Given the description of an element on the screen output the (x, y) to click on. 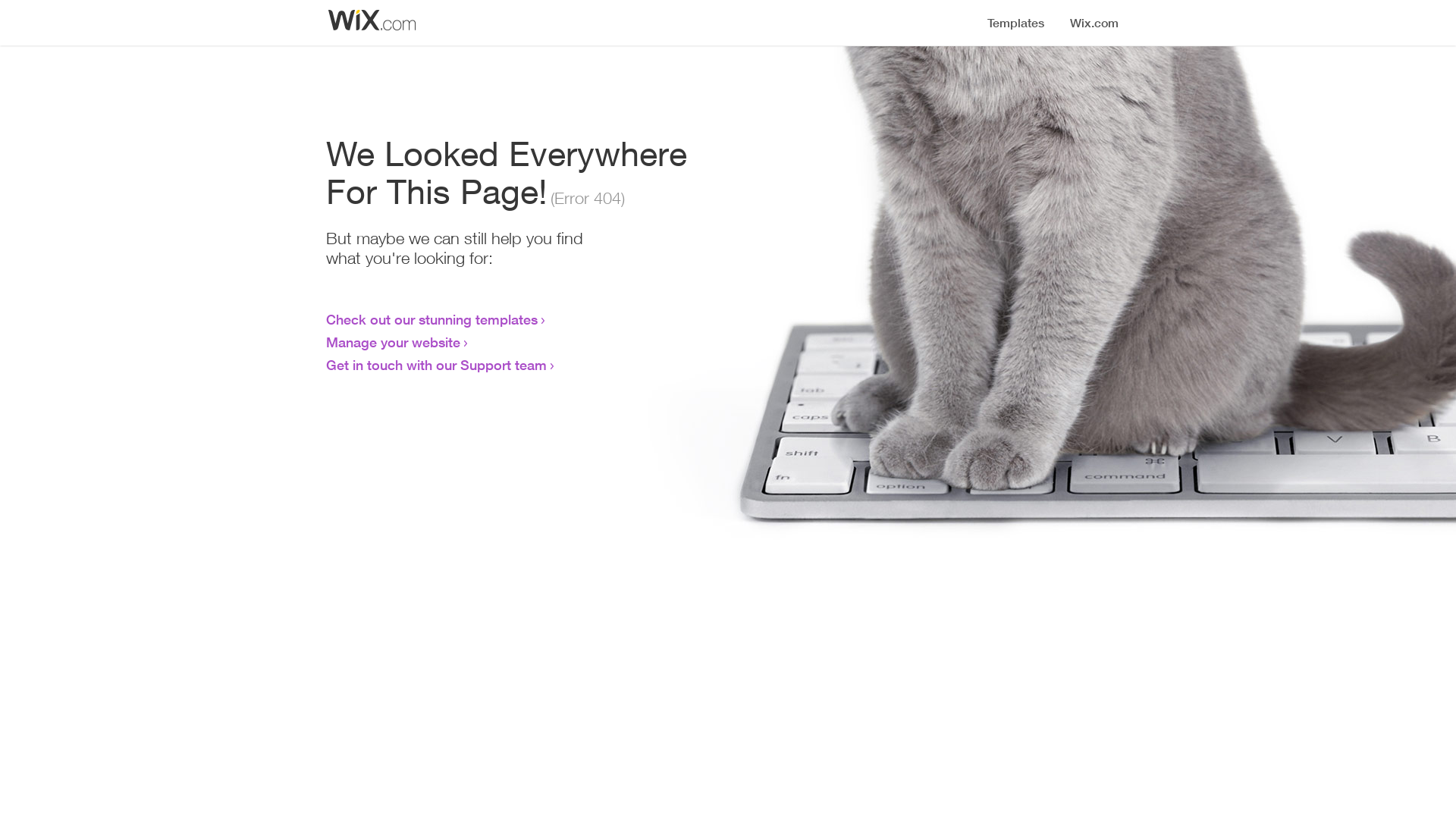
Check out our stunning templates Element type: text (431, 318)
Manage your website Element type: text (393, 341)
Get in touch with our Support team Element type: text (436, 364)
